Given the description of an element on the screen output the (x, y) to click on. 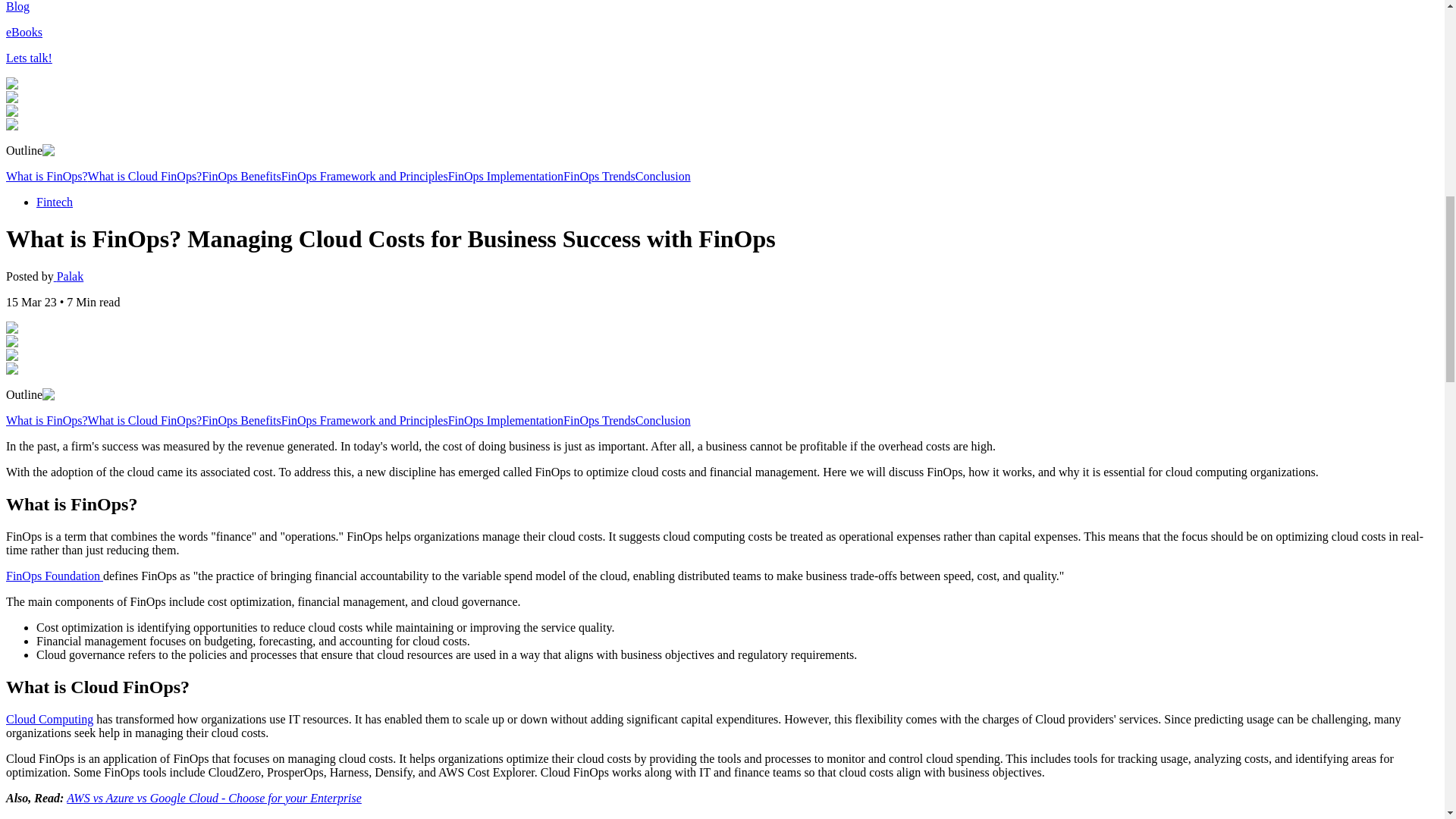
What is Cloud FinOps? (144, 175)
Palak (68, 276)
Conclusion (662, 420)
FinOps Trends (598, 420)
FinOps Benefits (241, 175)
FinOps Foundation (54, 575)
Fintech (54, 201)
AWS vs Azure vs Google Cloud - Choose for your Enterprise (213, 797)
What is Cloud FinOps? (144, 420)
Conclusion (662, 175)
What is FinOps? (46, 175)
What is FinOps? (46, 420)
FinOps Benefits (241, 420)
FinOps Trends (598, 175)
Cloud Computing (49, 718)
